Given the description of an element on the screen output the (x, y) to click on. 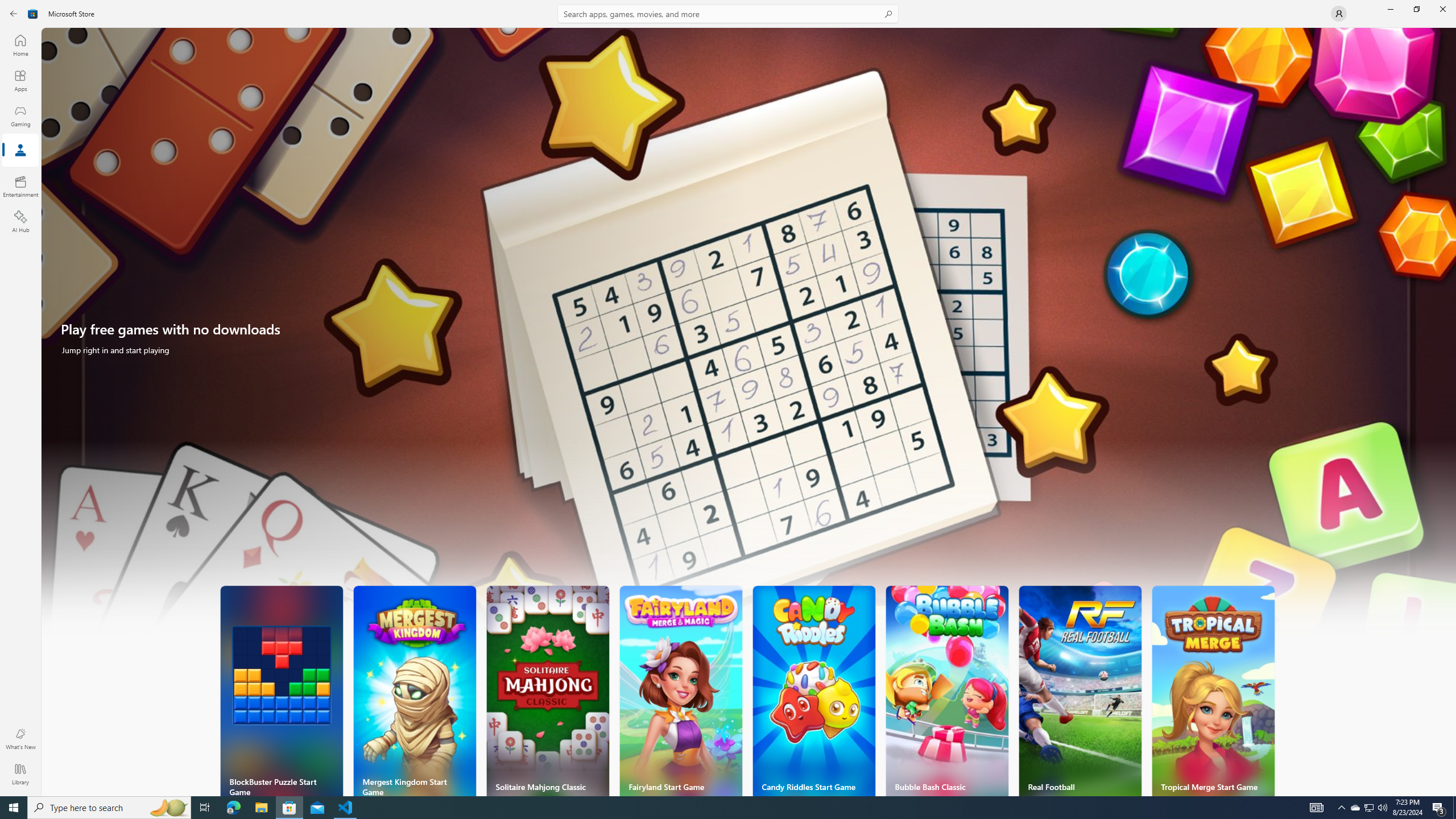
AI Hub (20, 221)
AutomationID: HeroOverlayImage (749, 337)
AutomationID: NavigationControl (728, 398)
User profile (1338, 13)
Entertainment (20, 185)
What's New (20, 738)
Apps (20, 80)
AutomationID: HeroImage (749, 337)
